Given the description of an element on the screen output the (x, y) to click on. 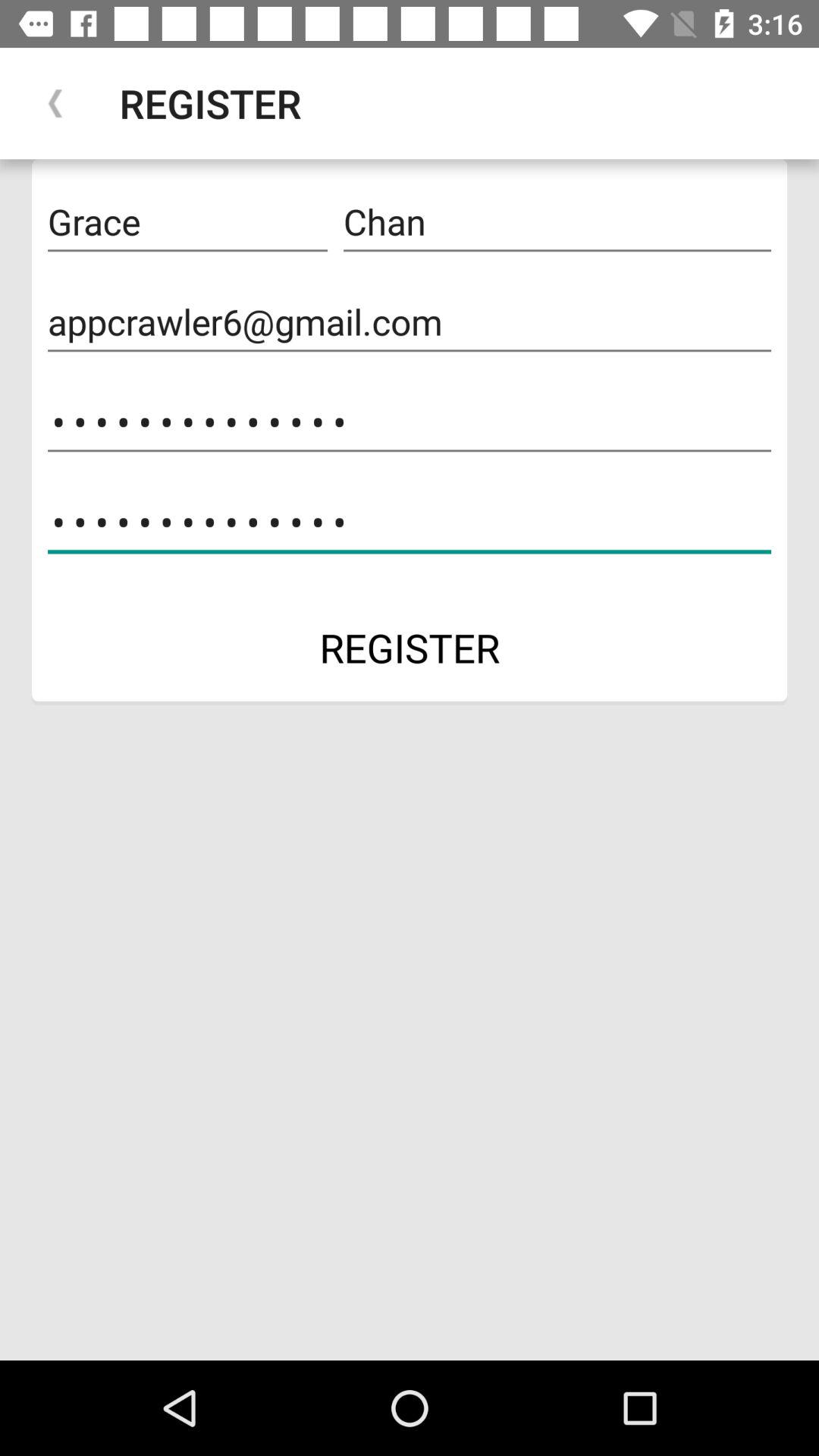
choose icon above the grace (55, 103)
